Given the description of an element on the screen output the (x, y) to click on. 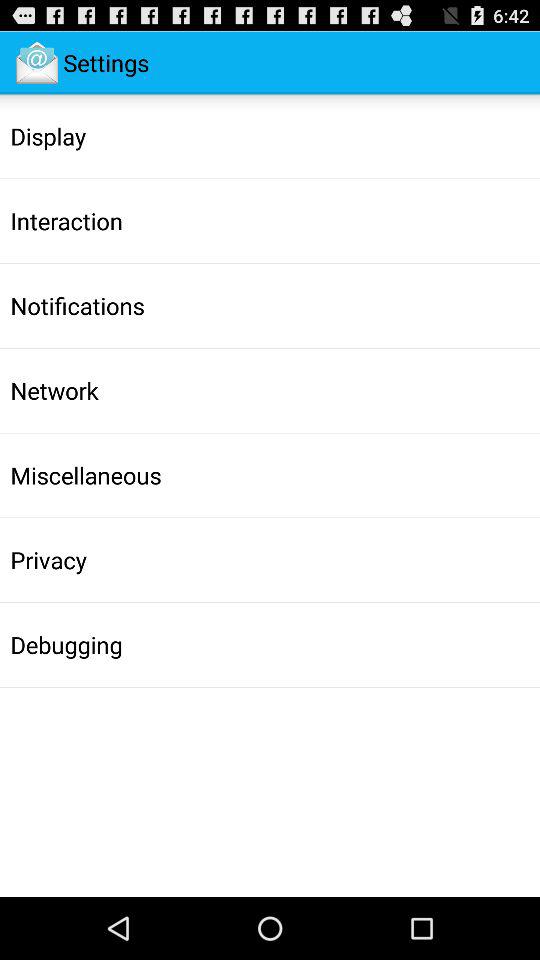
open display item (48, 136)
